Given the description of an element on the screen output the (x, y) to click on. 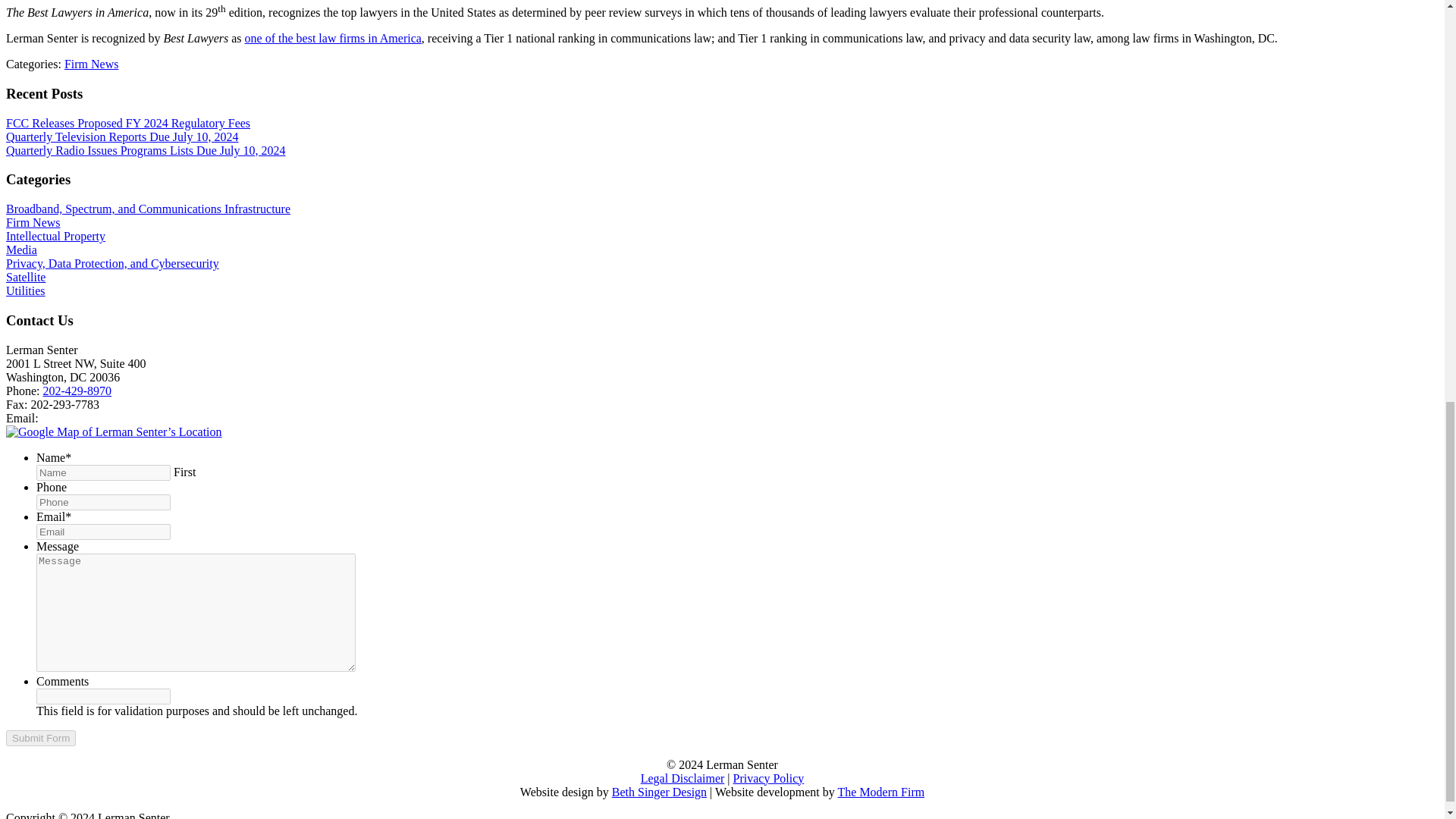
Click to view this map on Google Maps (113, 431)
Disclaimer (682, 778)
Click for more Firm News information (91, 63)
Submit Form (40, 738)
Law Firm Website Design (880, 791)
